Given the description of an element on the screen output the (x, y) to click on. 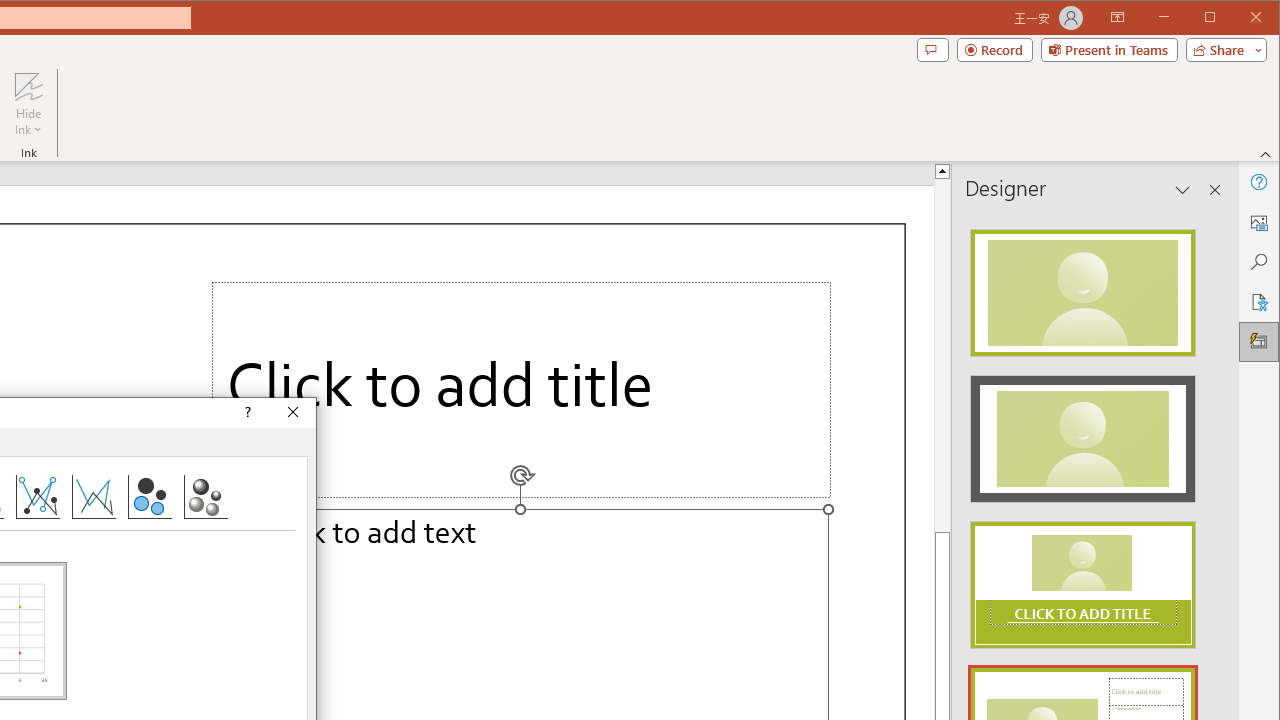
Hide Ink (28, 104)
Scatter with Straight Lines and Markers (38, 496)
Design Idea (1082, 579)
Search (1258, 261)
Page up (942, 355)
Hide Ink (28, 86)
Line up (942, 170)
Context help (246, 412)
3-D Bubble (205, 496)
Close pane (1215, 189)
